Given the description of an element on the screen output the (x, y) to click on. 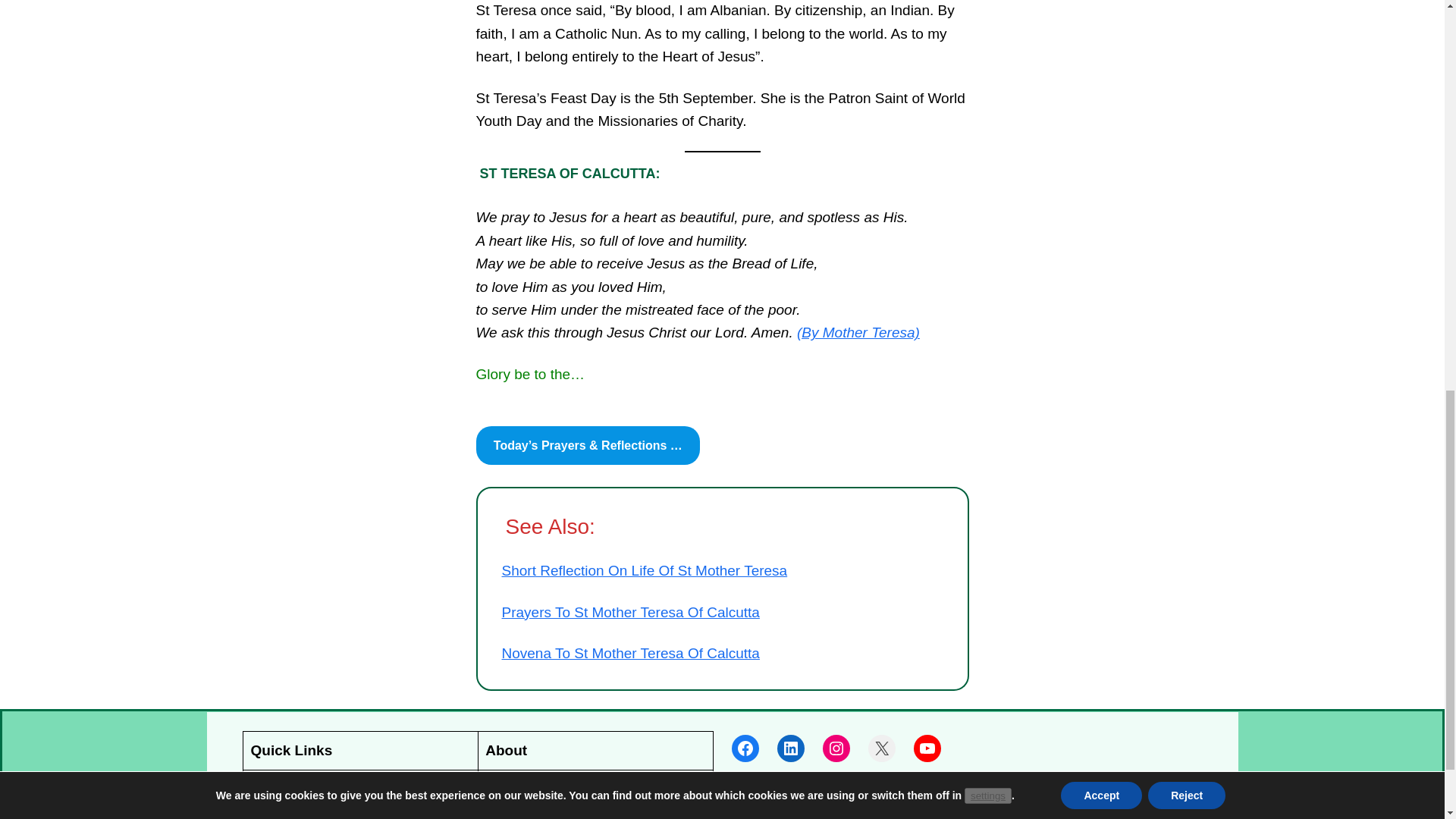
Prayer Box (285, 788)
LinkedIn (789, 748)
Facebook (744, 748)
X (881, 748)
Library (272, 811)
Prayers To St Mother Teresa Of Calcutta (631, 611)
Novena To St Mother Teresa Of Calcutta (631, 652)
Short Reflection On Life Of St Mother Teresa (644, 570)
Our Help For The Poor (557, 788)
YouTube (926, 748)
